Given the description of an element on the screen output the (x, y) to click on. 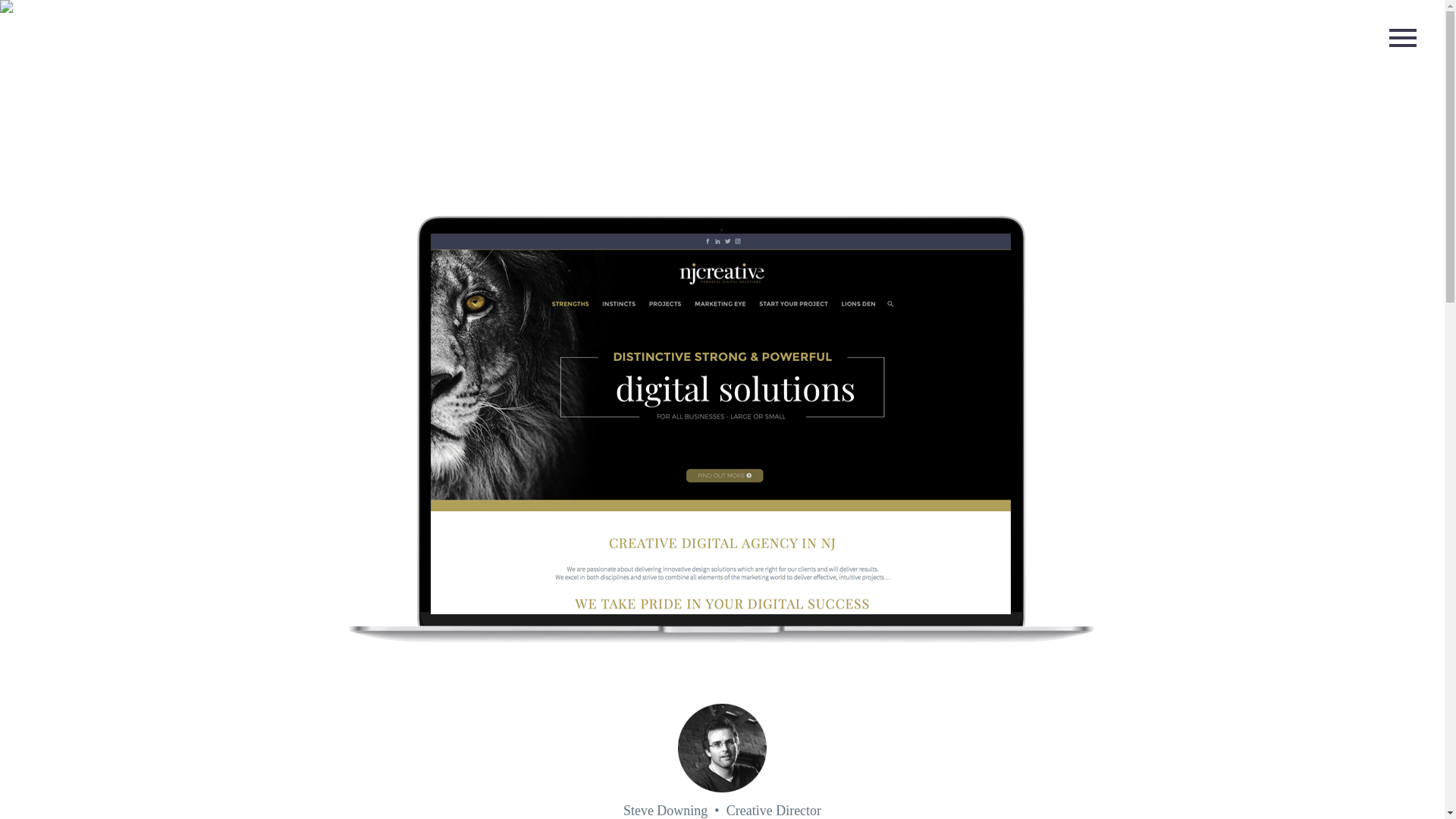
Primary Menu (1402, 37)
s (721, 368)
